Given the description of an element on the screen output the (x, y) to click on. 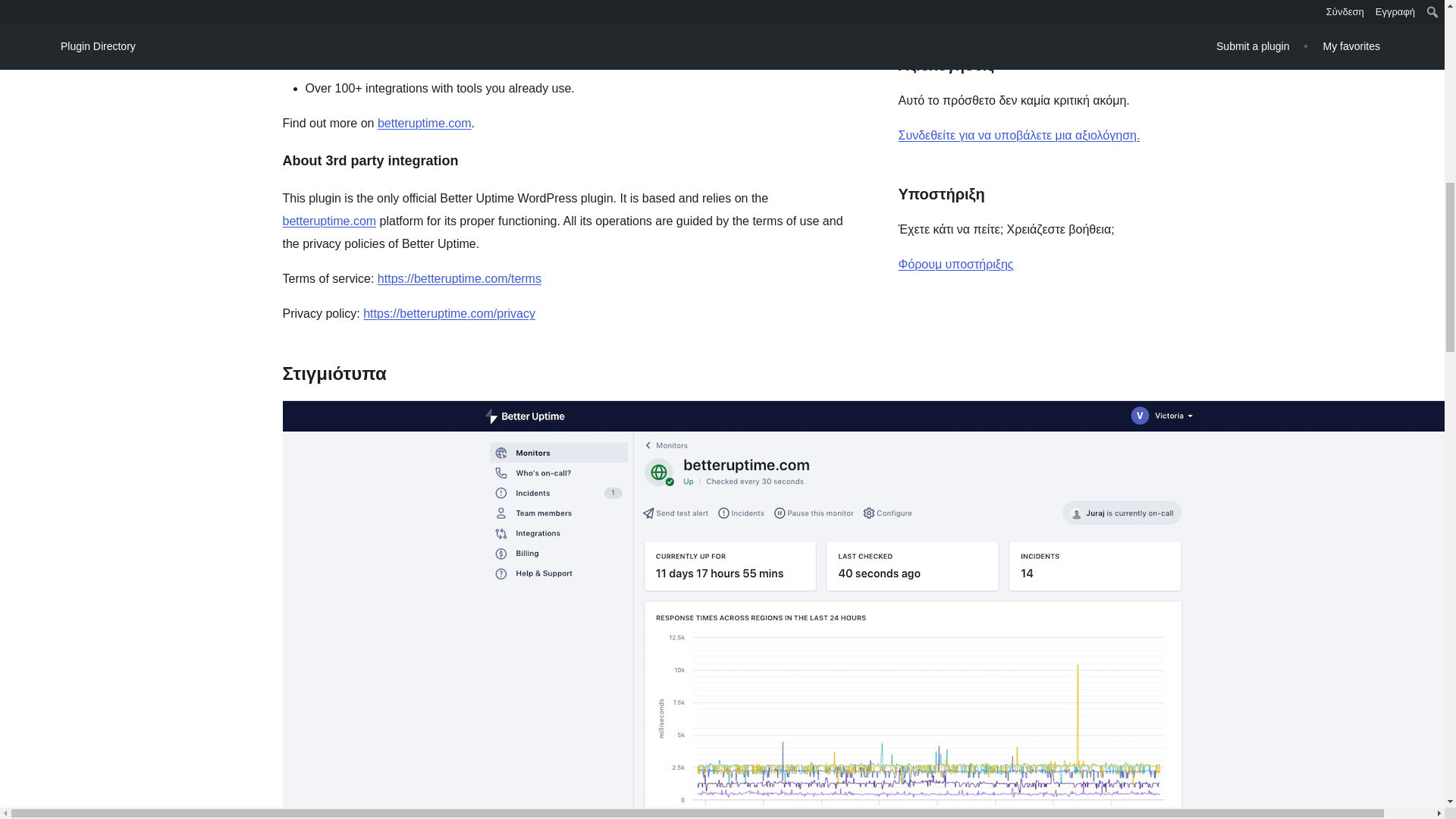
betteruptime.com (328, 220)
betteruptime.com (424, 123)
